Given the description of an element on the screen output the (x, y) to click on. 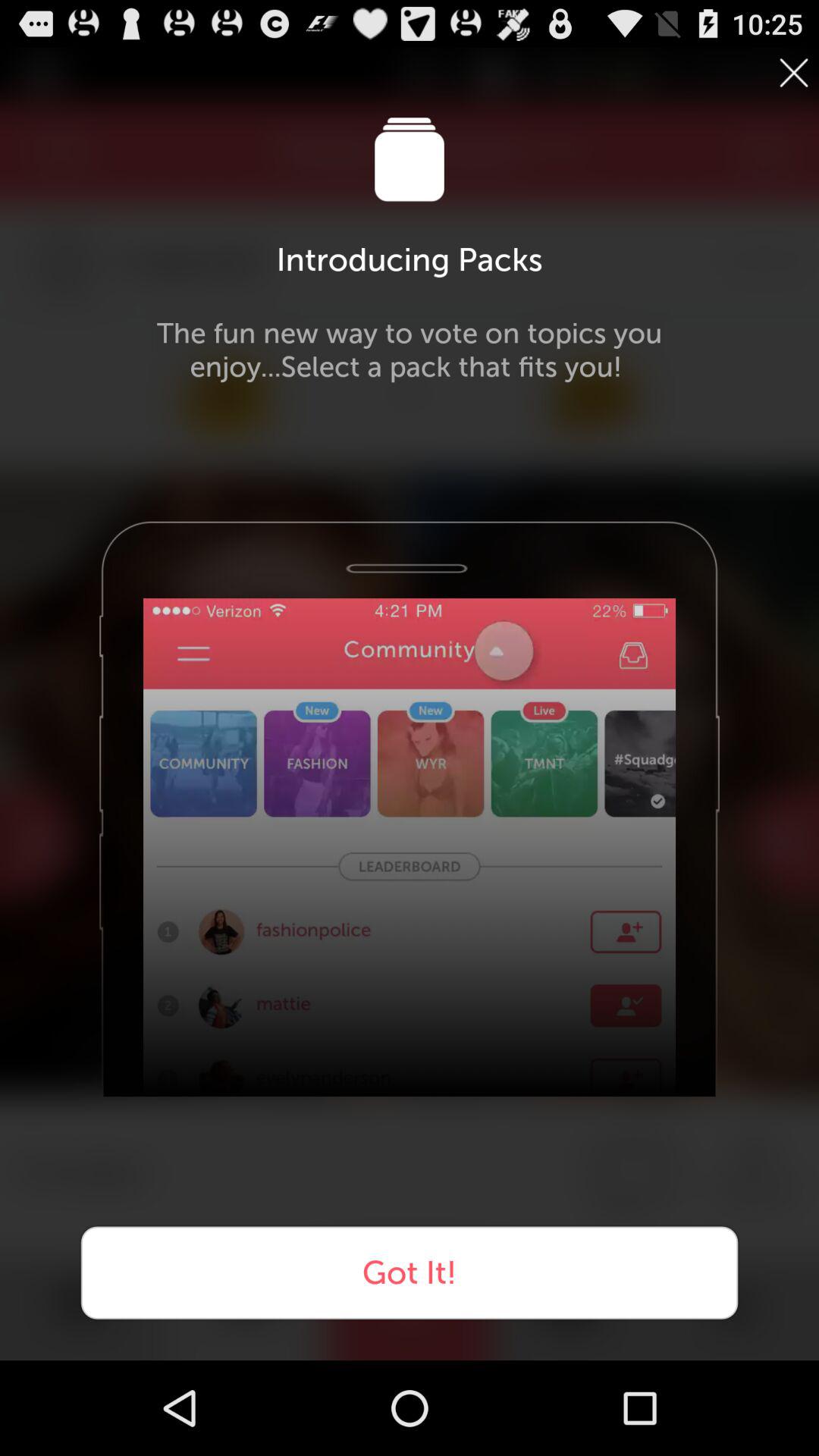
close advertisement for packs (793, 72)
